Given the description of an element on the screen output the (x, y) to click on. 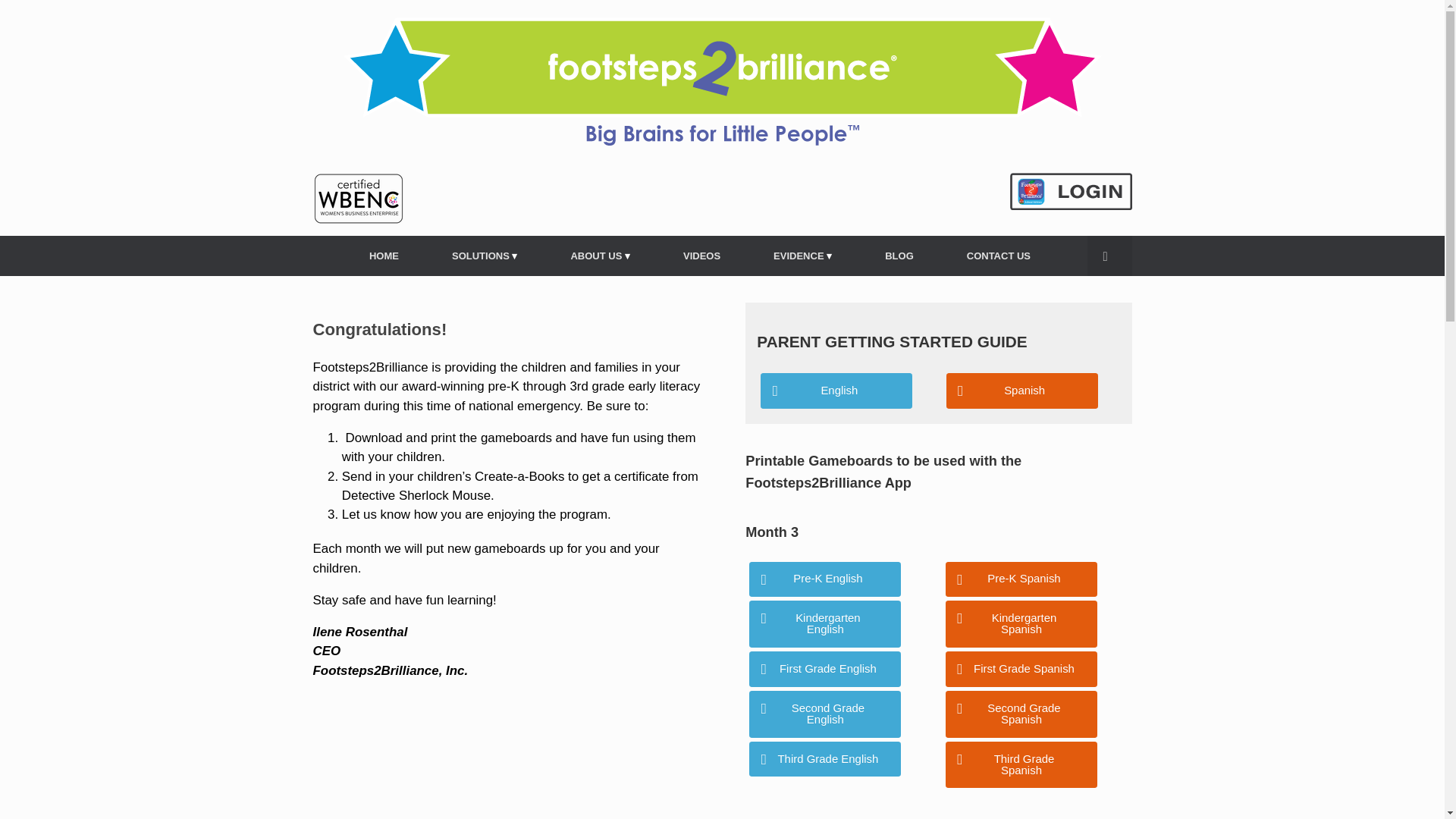
Footsteps2Brilliance (722, 80)
First Grade English (825, 669)
SOLUTIONS (484, 255)
Second Grade Spanish (1020, 714)
Spanish (1021, 390)
Third Grade English (825, 759)
First Grade Spanish (1020, 669)
Third Grade Spanish (1020, 765)
Pre-K Spanish (1020, 579)
ABOUT US (599, 255)
HOME (383, 255)
English (836, 390)
Pre-K English (825, 579)
VIDEOS (701, 255)
EVIDENCE (802, 255)
